Given the description of an element on the screen output the (x, y) to click on. 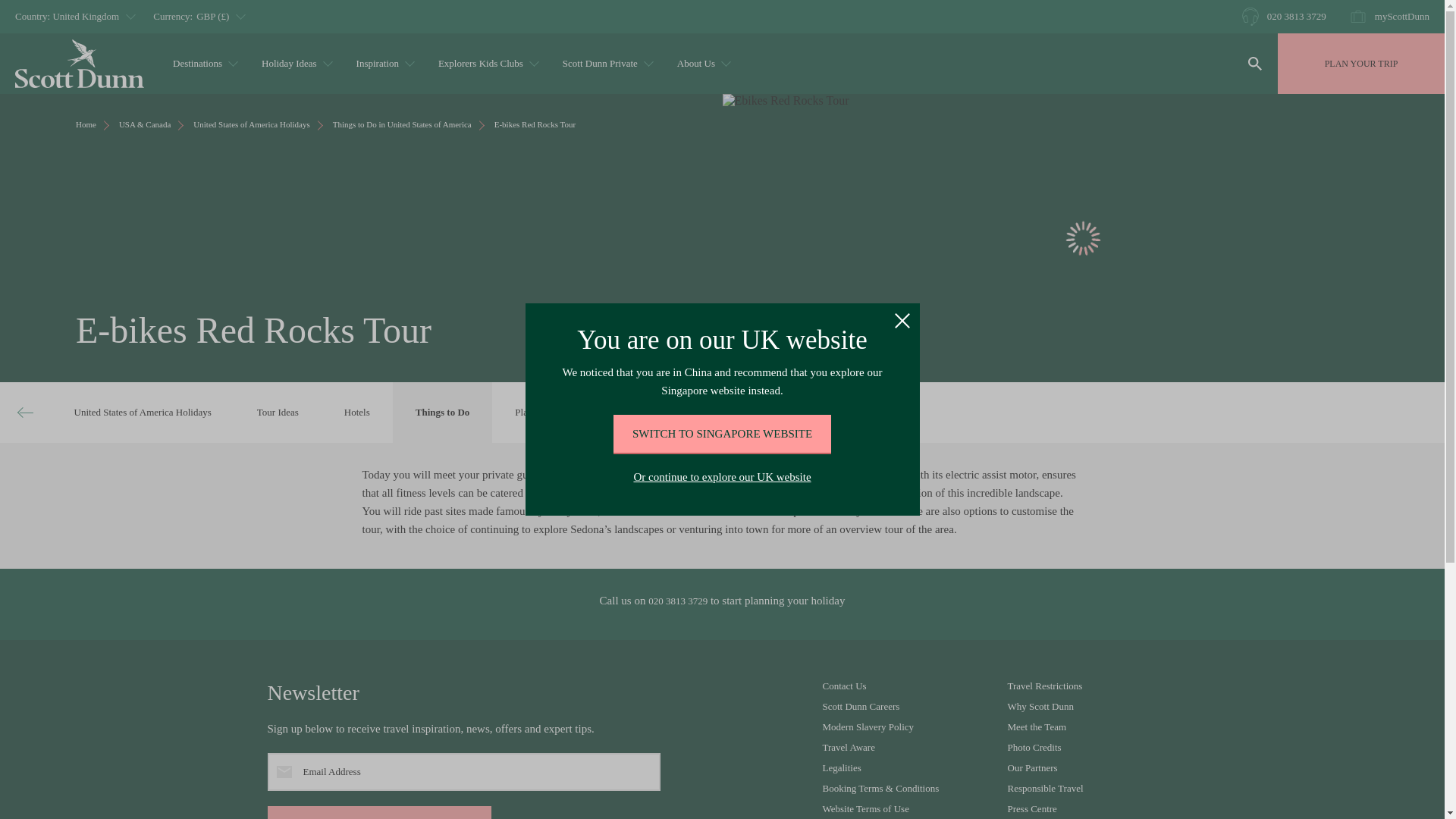
Your email address (463, 771)
myScottDunn (1389, 16)
020 3813 3729 (1283, 16)
Destinations (202, 63)
